Given the description of an element on the screen output the (x, y) to click on. 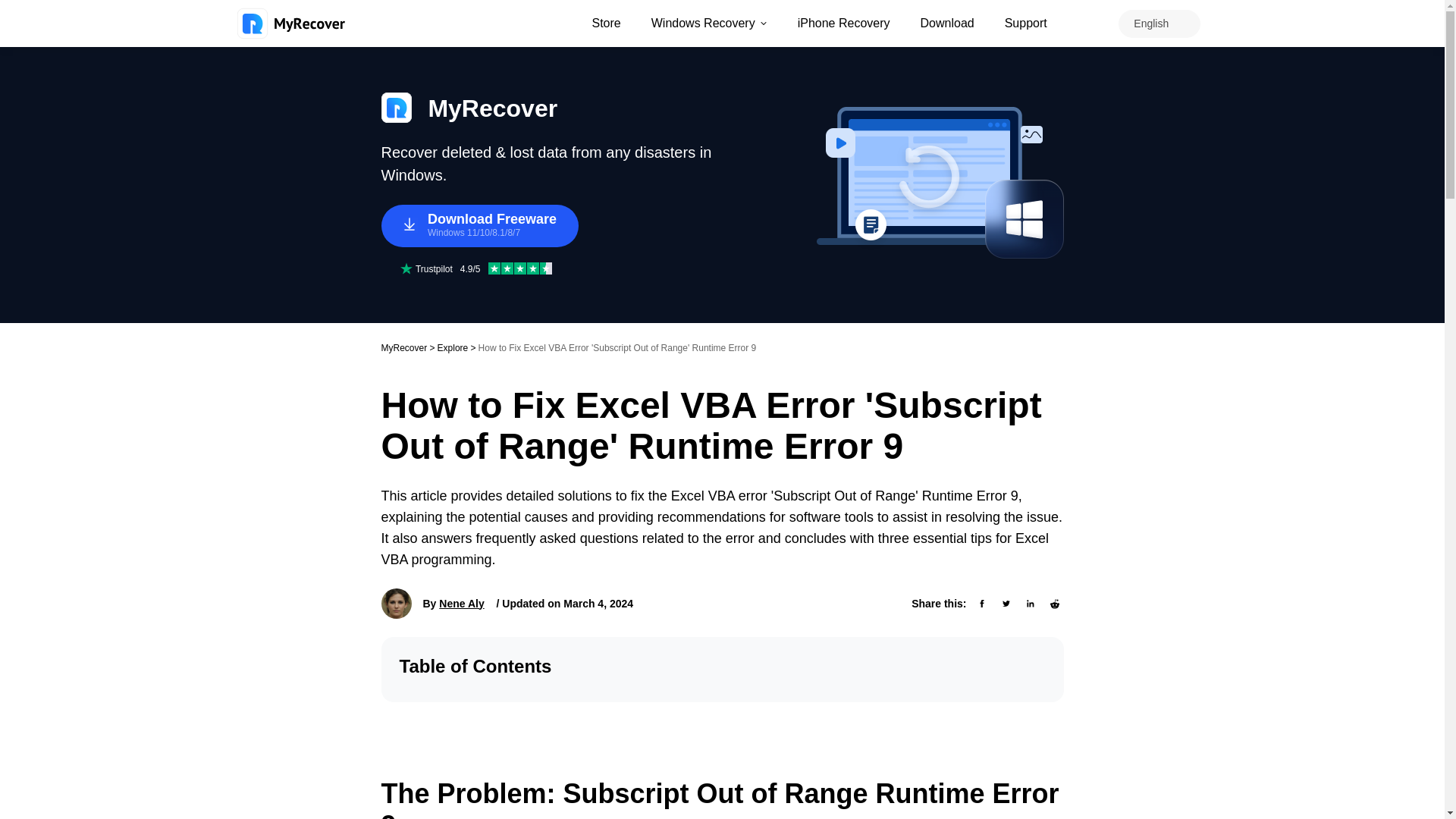
Support (1025, 23)
Store (605, 23)
English (1151, 22)
Nene Aly (461, 603)
MyRecover (403, 347)
Download (946, 23)
Explore (453, 347)
iPhone Recovery (844, 23)
Windows Recovery (708, 23)
